Given the description of an element on the screen output the (x, y) to click on. 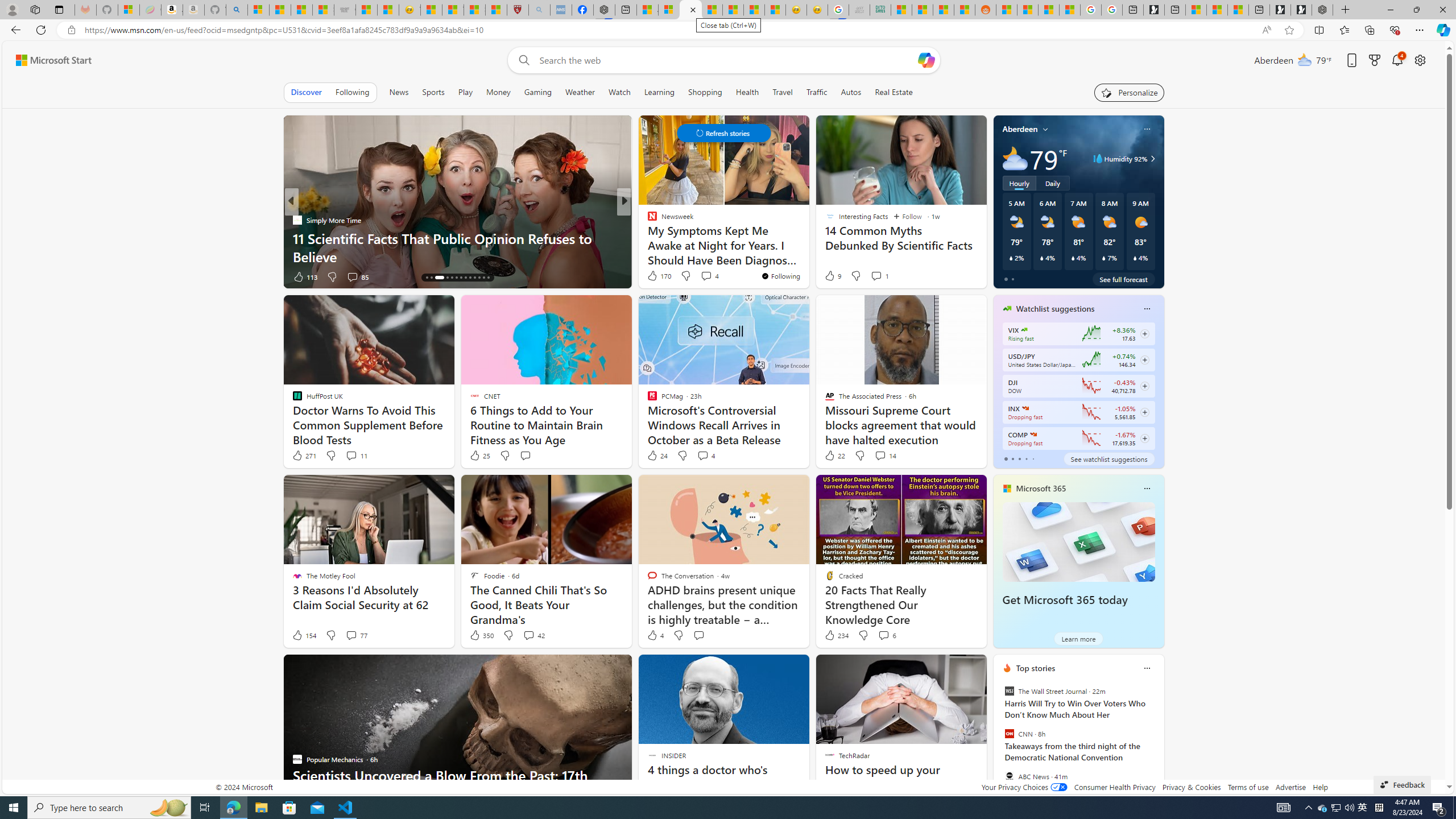
View comments 85 Comment (352, 276)
View comments 4 Comment (703, 455)
Sports (432, 92)
Learning (659, 92)
Digital Trends (647, 219)
3k Like (652, 276)
Traffic (816, 92)
Gaming (537, 92)
